Given the description of an element on the screen output the (x, y) to click on. 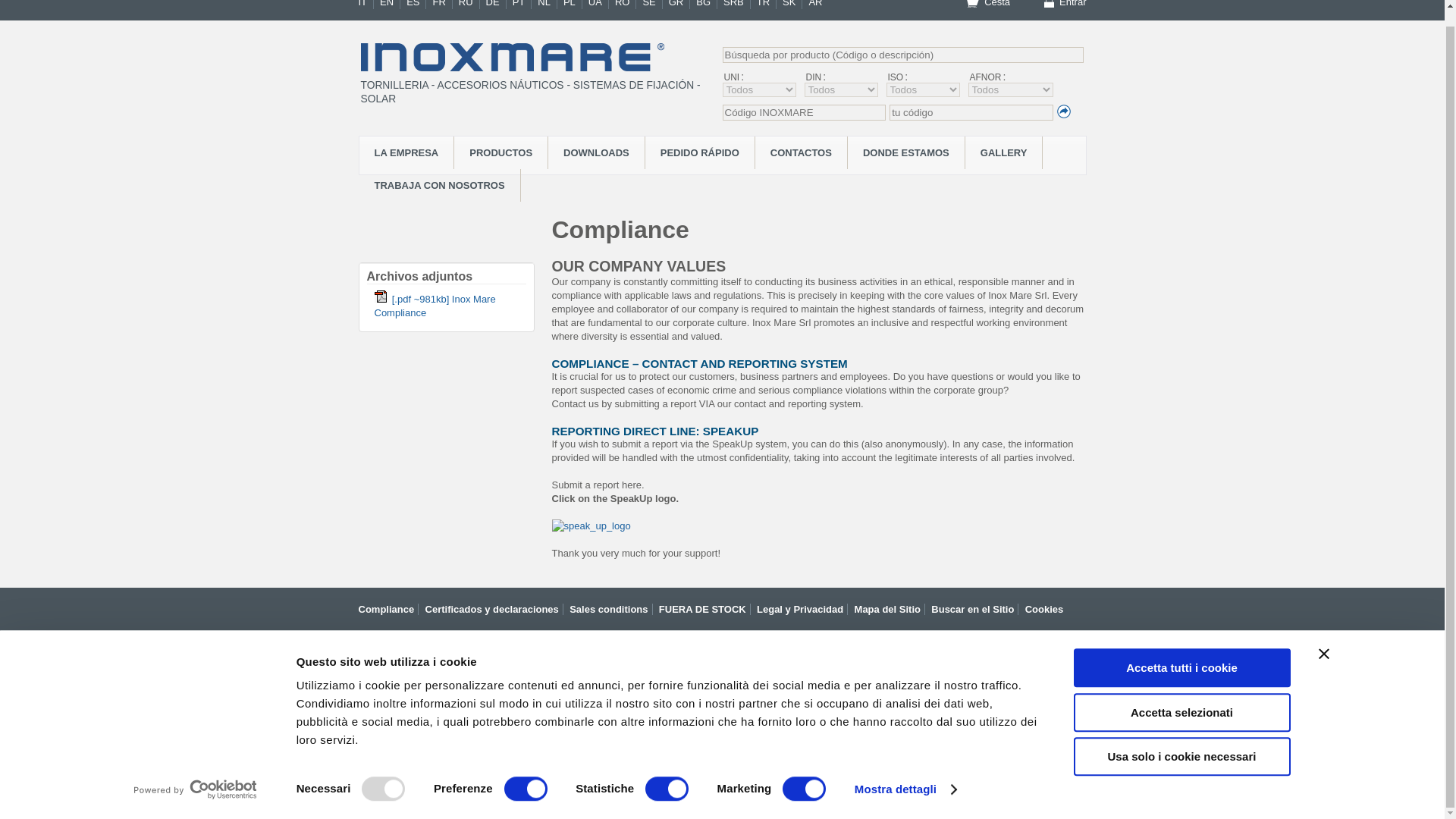
DE (496, 4)
NL (547, 4)
IT (366, 4)
Mostra dettagli (905, 773)
FR (441, 4)
EN (390, 4)
RU (469, 4)
ES (416, 4)
PT (522, 4)
PL (572, 4)
